Given the description of an element on the screen output the (x, y) to click on. 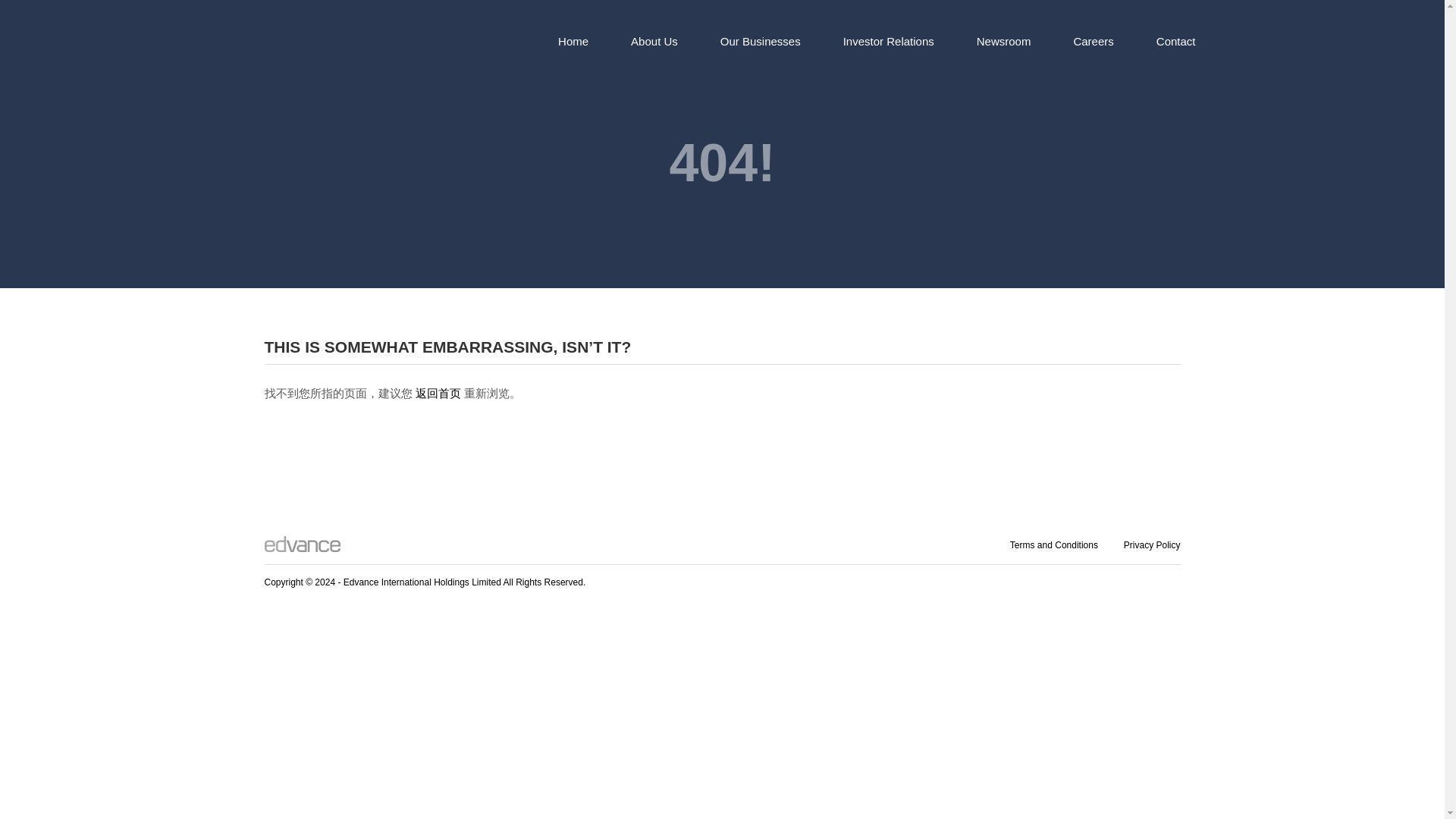
Terms and Conditions (1053, 544)
About Us (654, 41)
Skip to content (346, 24)
Contact (1176, 41)
Investor Relations (888, 41)
Home (573, 41)
Careers (1092, 41)
Privacy Policy (1152, 544)
Skip to content (346, 24)
Our Businesses (760, 41)
